Given the description of an element on the screen output the (x, y) to click on. 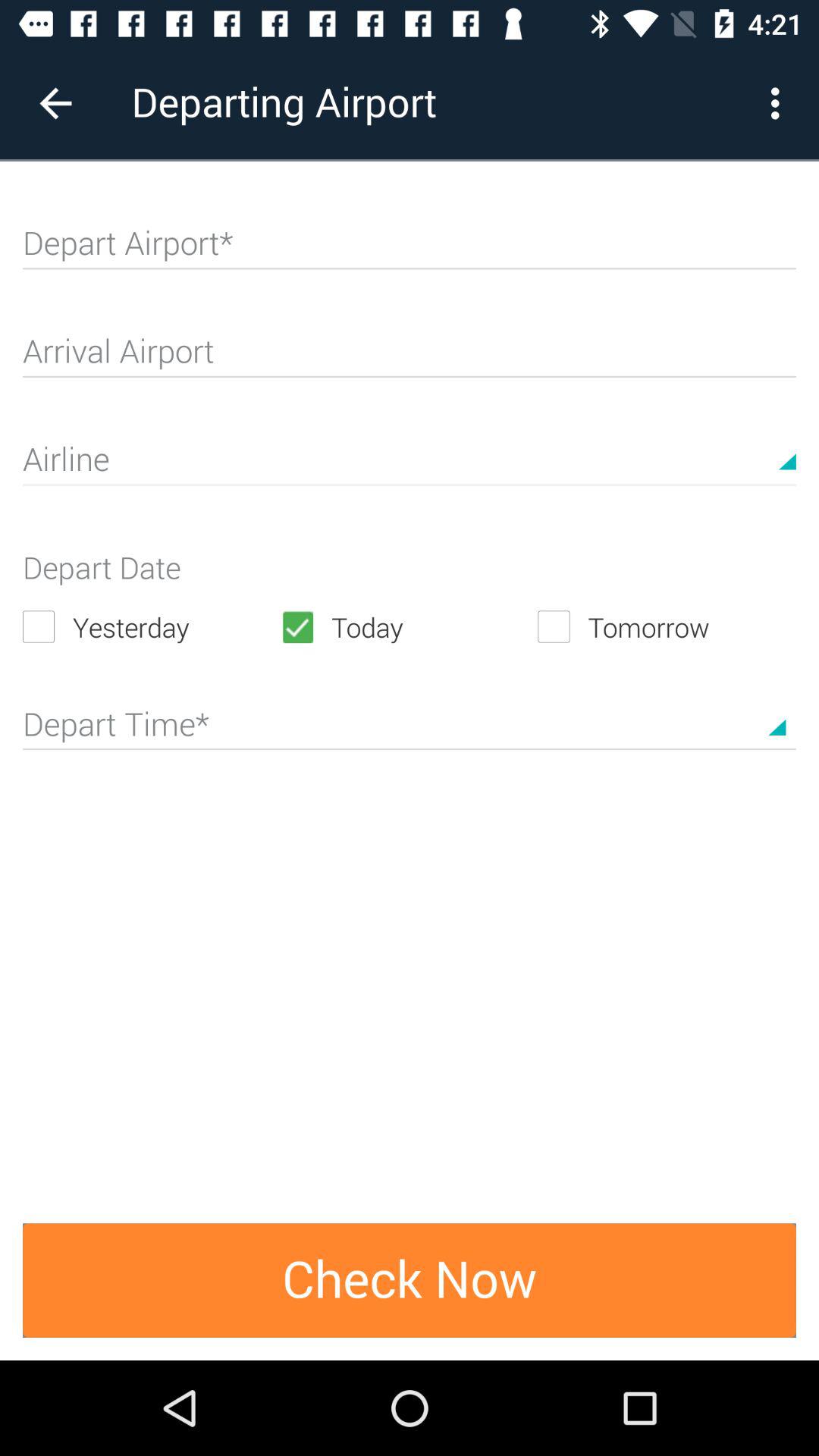
click on the button above the check now (409, 719)
click the button airline on the web page (409, 465)
click on the blue icon which is in the airline (787, 446)
click on the check now button at the bottom of the page (409, 1280)
click on button beside today (667, 626)
click on arrival airport (409, 357)
